Given the description of an element on the screen output the (x, y) to click on. 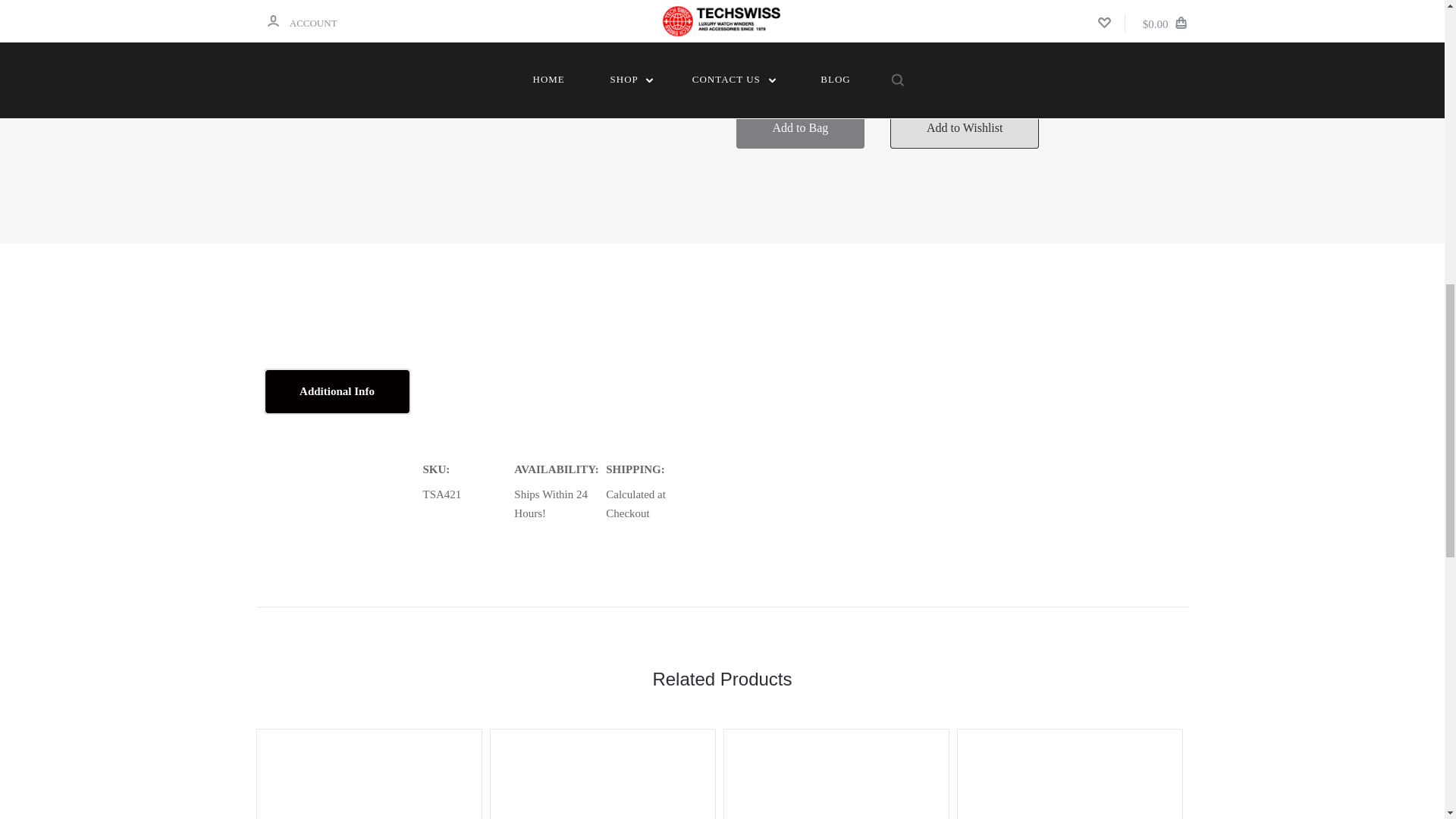
twitter (925, 39)
pinterest (949, 39)
close (1418, 21)
1 (797, 39)
